Given the description of an element on the screen output the (x, y) to click on. 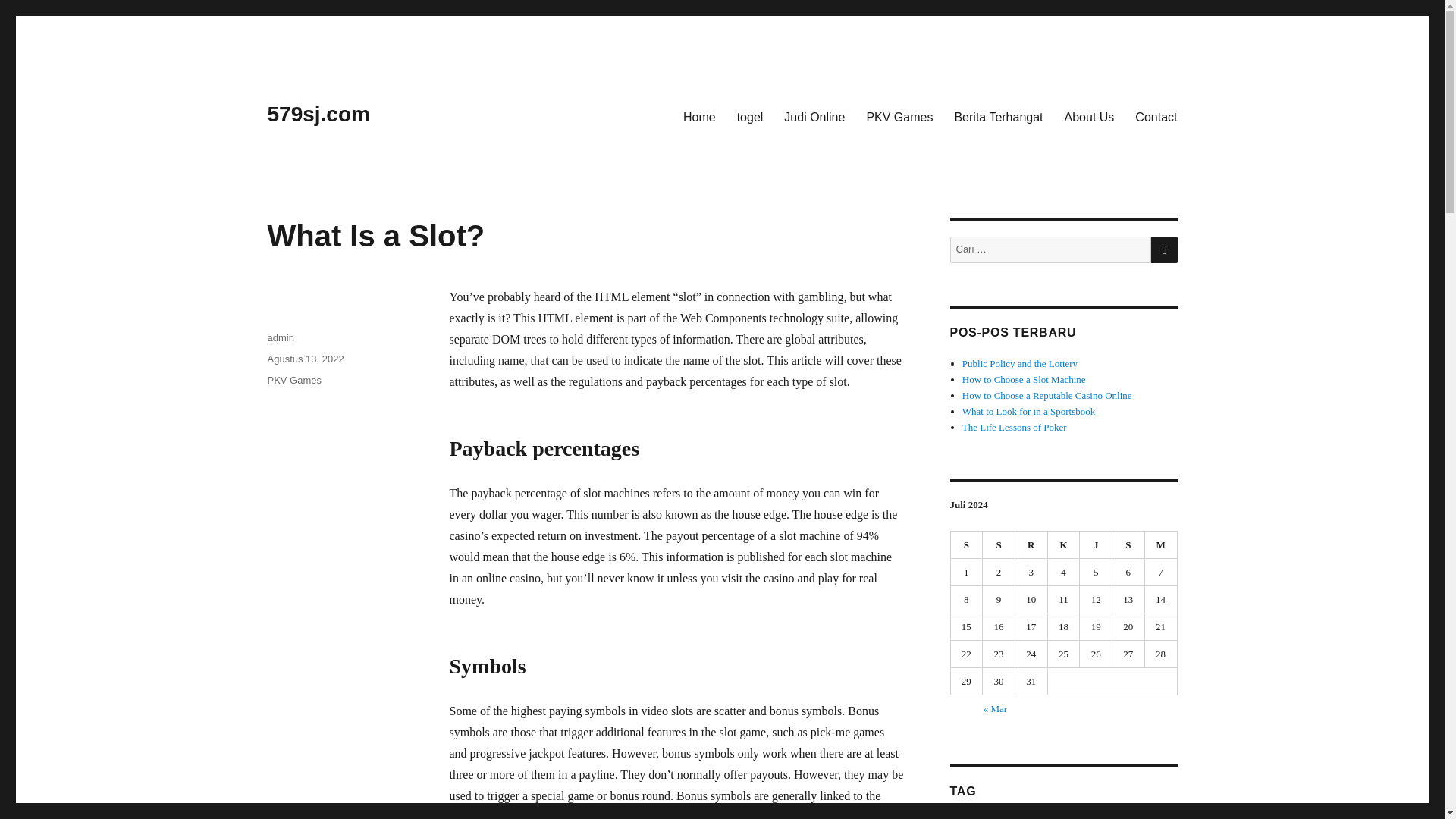
Jumat (1096, 544)
admin (280, 337)
Minggu (1160, 544)
Kamis (1064, 544)
Rabu (1031, 544)
PKV Games (899, 116)
PKV Games (293, 379)
Selasa (998, 544)
togel (750, 116)
579sj.com (317, 114)
Senin (967, 544)
Contact (1156, 116)
Judi Online (814, 116)
Agustus 13, 2022 (304, 358)
Berita Terhangat (997, 116)
